Given the description of an element on the screen output the (x, y) to click on. 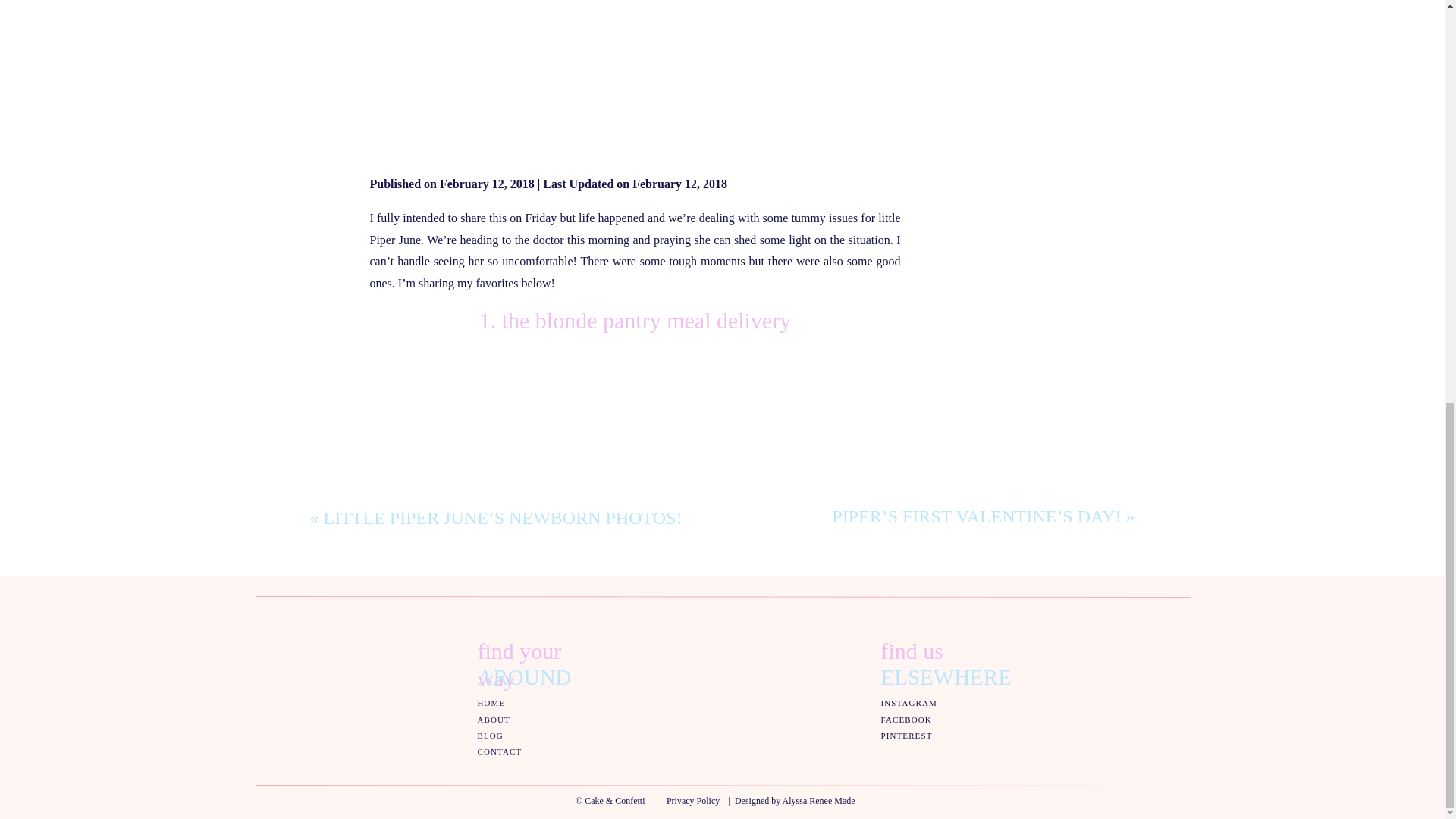
INSTAGRAM (908, 703)
ABOUT (492, 719)
PINTEREST (906, 736)
BLOG (492, 736)
Crave Cupcakes (408, 808)
CONTACT (500, 751)
The Blonde Pantry (583, 491)
FACEBOOK (908, 719)
HOME (492, 703)
